Given the description of an element on the screen output the (x, y) to click on. 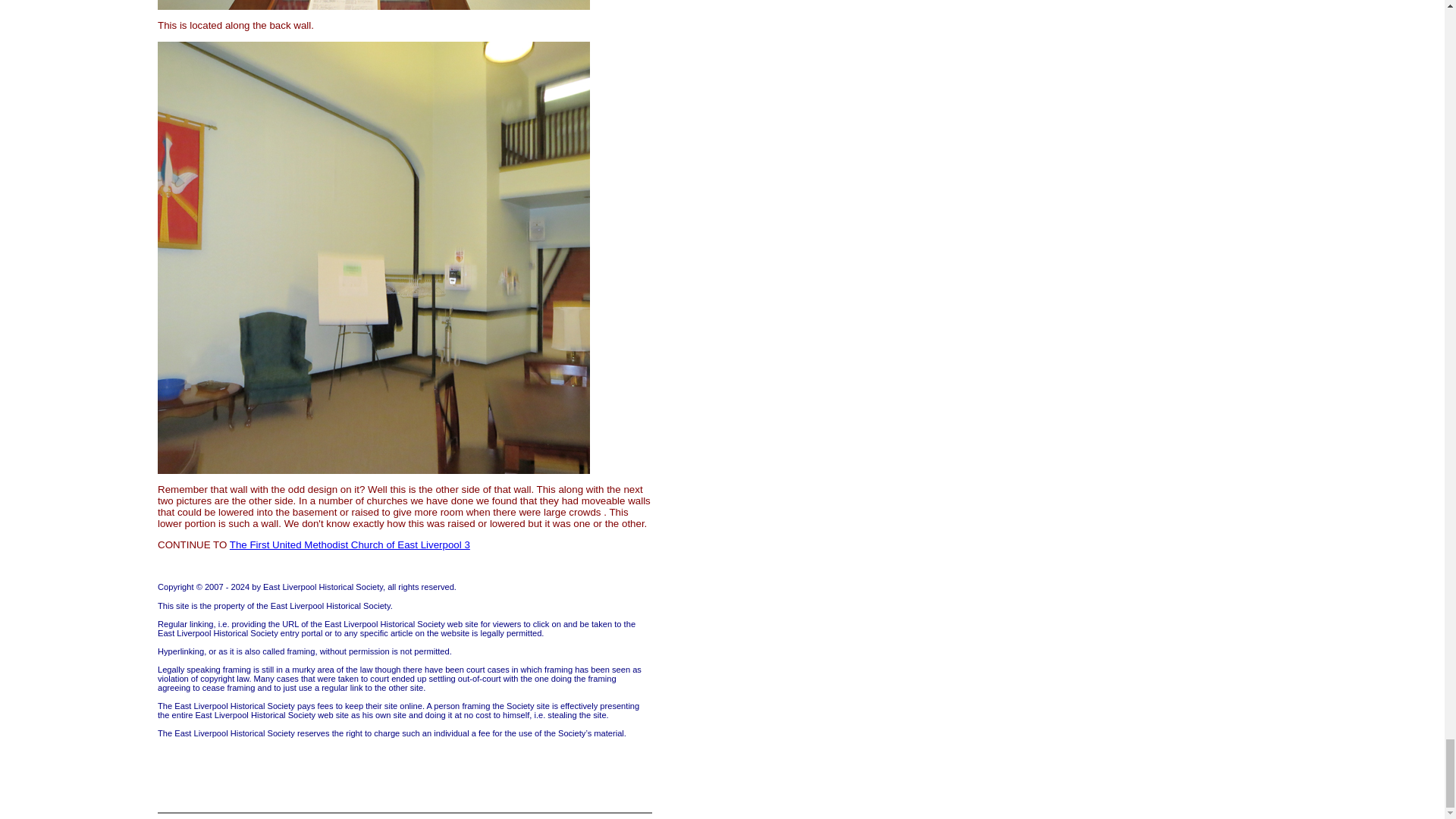
The First United Methodist Church of East Liverpool 3 (350, 544)
